Given the description of an element on the screen output the (x, y) to click on. 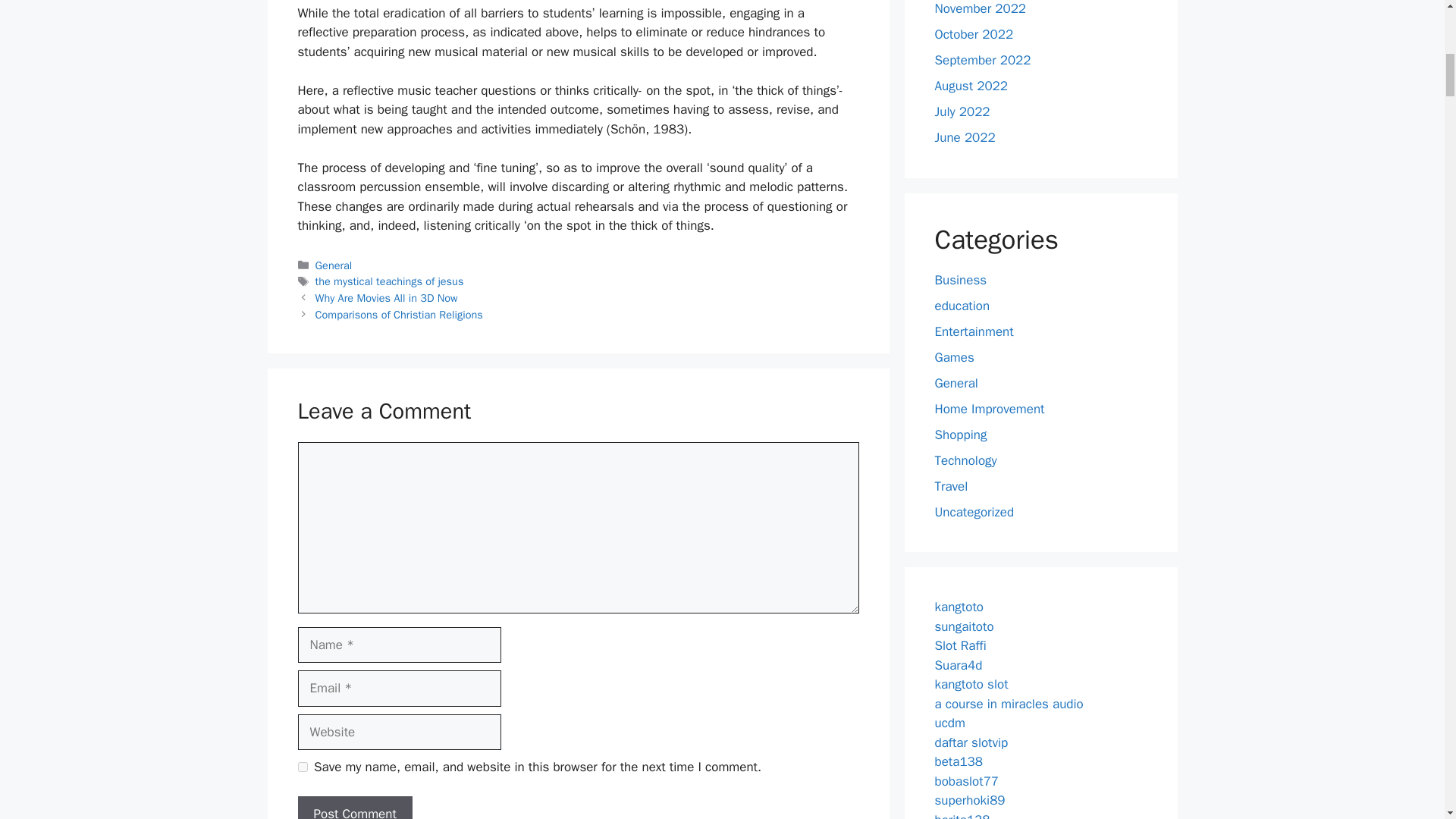
Why Are Movies All in 3D Now (386, 297)
yes (302, 767)
General (333, 264)
Comparisons of Christian Religions (399, 314)
October 2022 (973, 34)
Post Comment (354, 807)
the mystical teachings of jesus (389, 281)
November 2022 (980, 8)
Post Comment (354, 807)
September 2022 (982, 59)
